Given the description of an element on the screen output the (x, y) to click on. 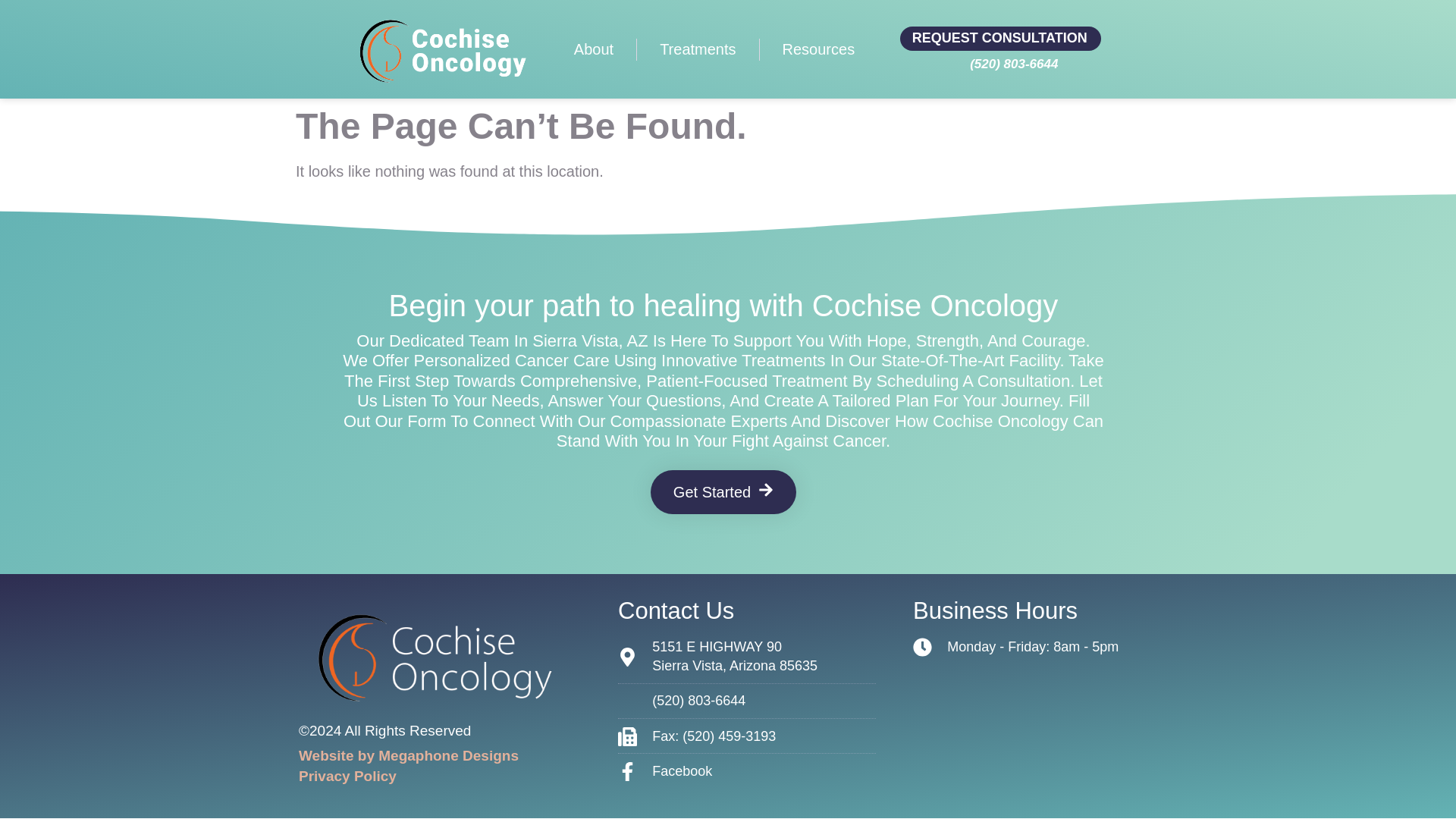
About (593, 48)
Treatments (697, 48)
Resources (818, 48)
